Given the description of an element on the screen output the (x, y) to click on. 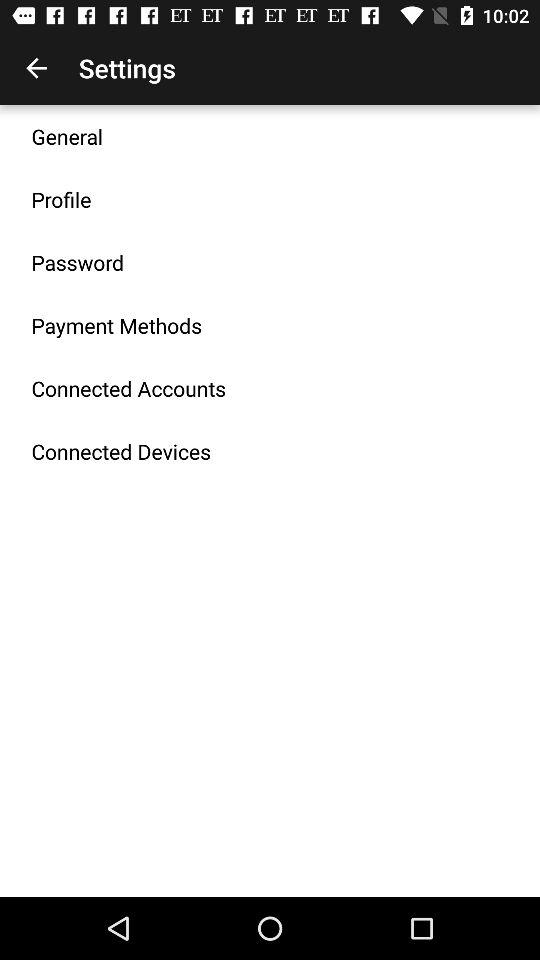
turn on profile (61, 199)
